Given the description of an element on the screen output the (x, y) to click on. 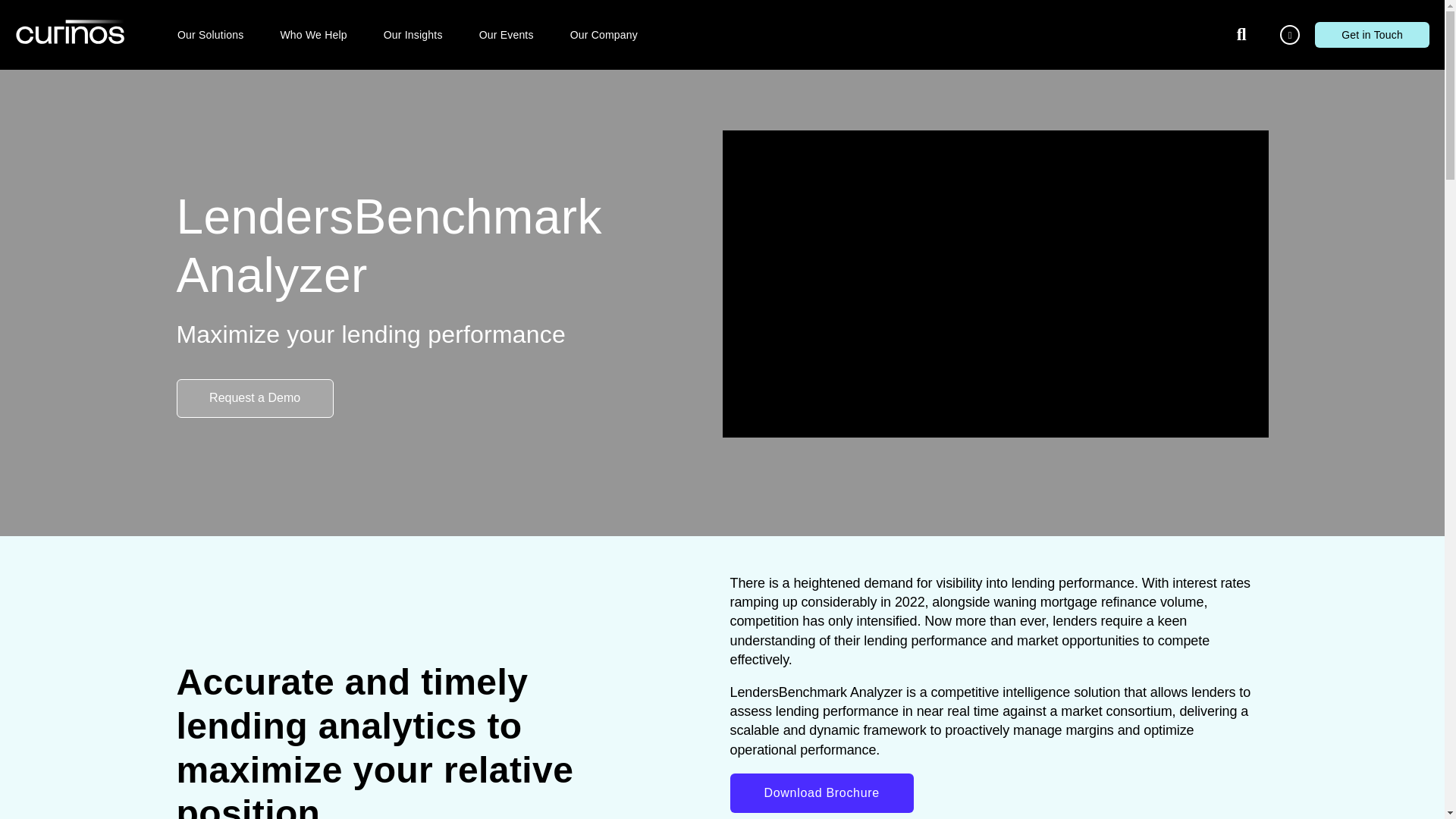
Download Brochure (820, 793)
Our Events (506, 34)
Our Insights (413, 34)
Our Company (603, 34)
Our Solutions (210, 34)
Who We Help (312, 34)
Get in Touch (1371, 34)
Request a Demo (254, 398)
